Given the description of an element on the screen output the (x, y) to click on. 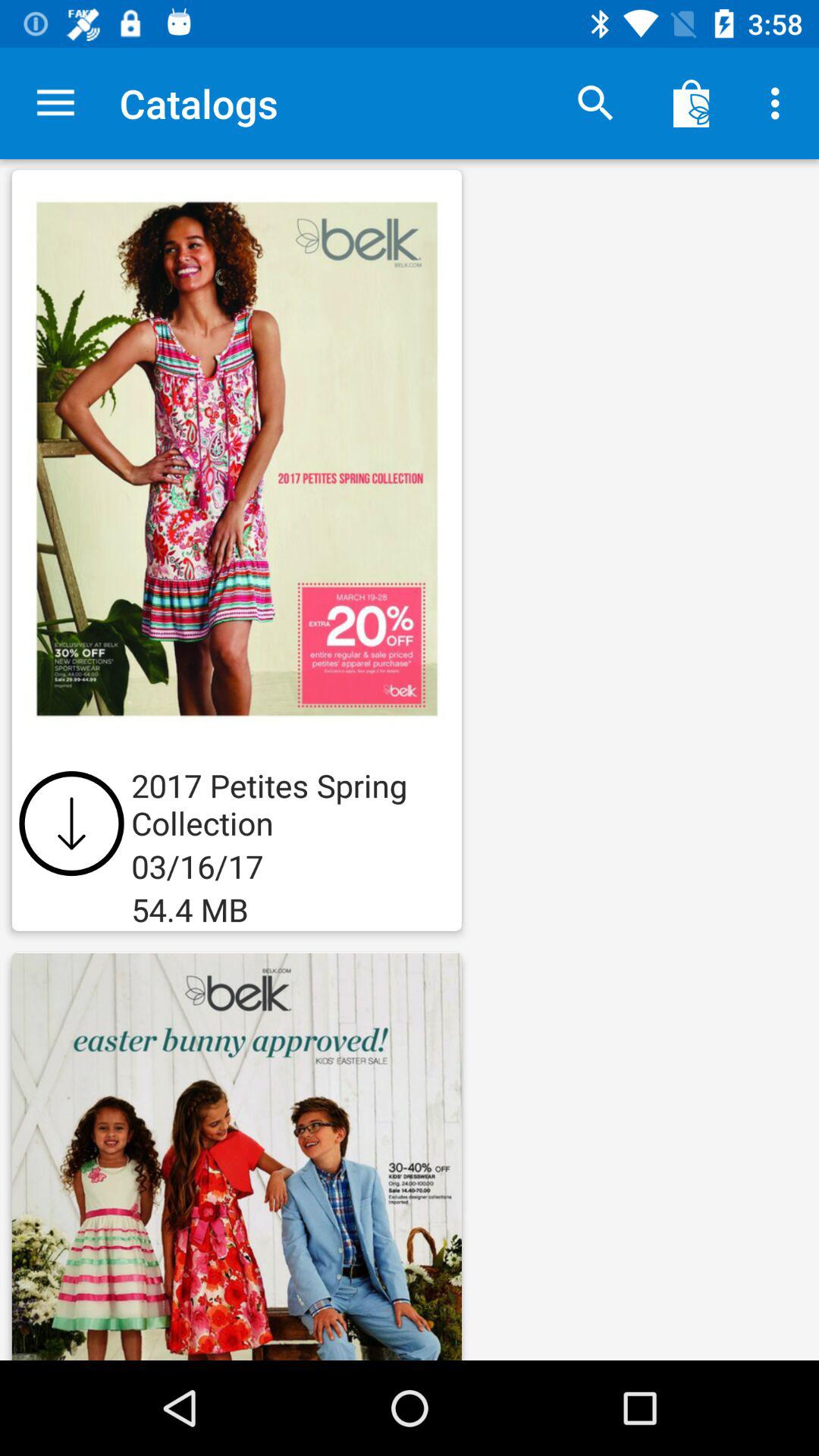
press the item to the left of 2017 petites spring item (71, 823)
